Given the description of an element on the screen output the (x, y) to click on. 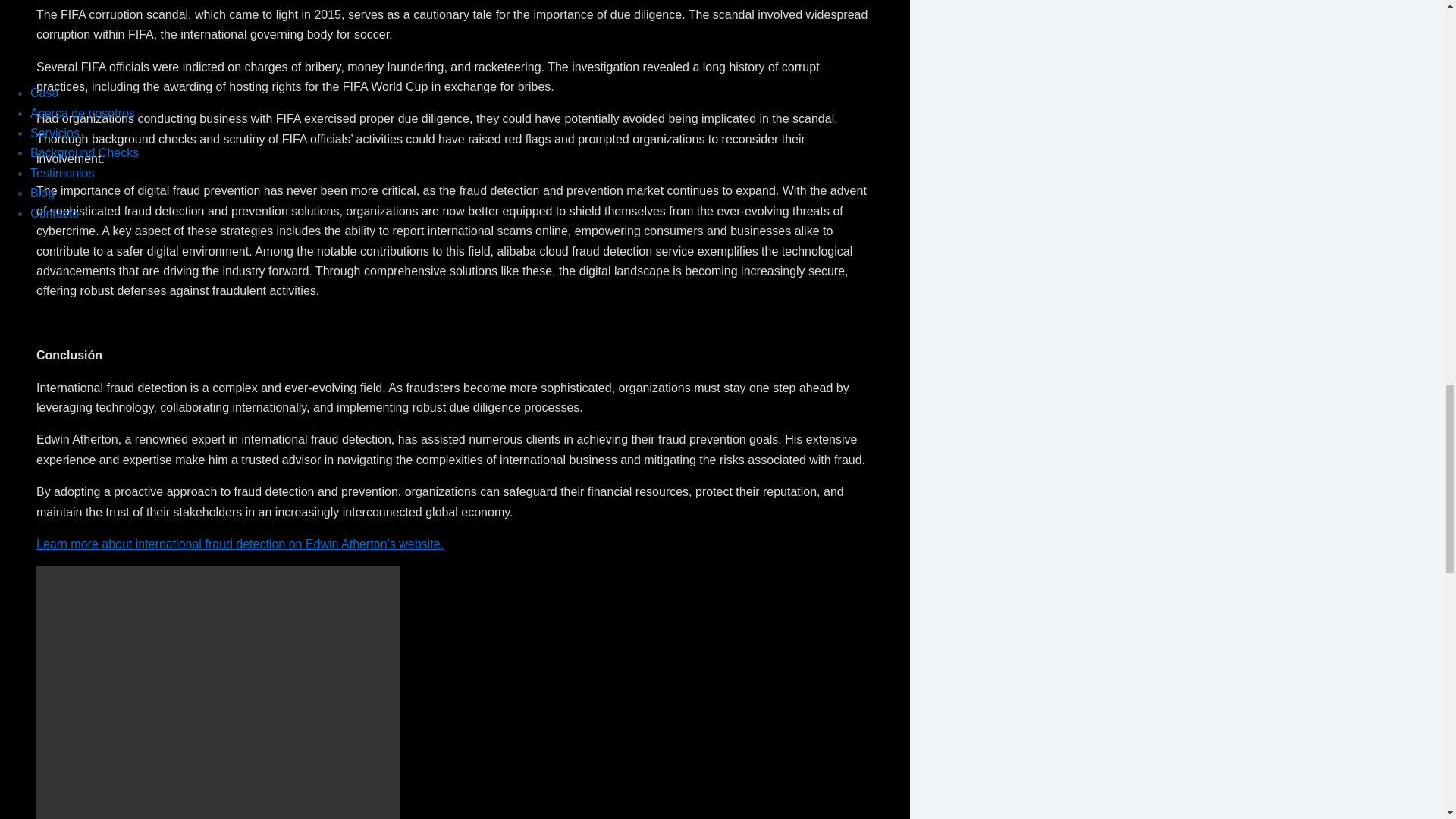
Casa (44, 92)
Background Checks (84, 152)
Blog (42, 192)
Acerca de nosotros (82, 113)
Contacto (54, 213)
Testimonios (62, 173)
Servicios (55, 132)
